Given the description of an element on the screen output the (x, y) to click on. 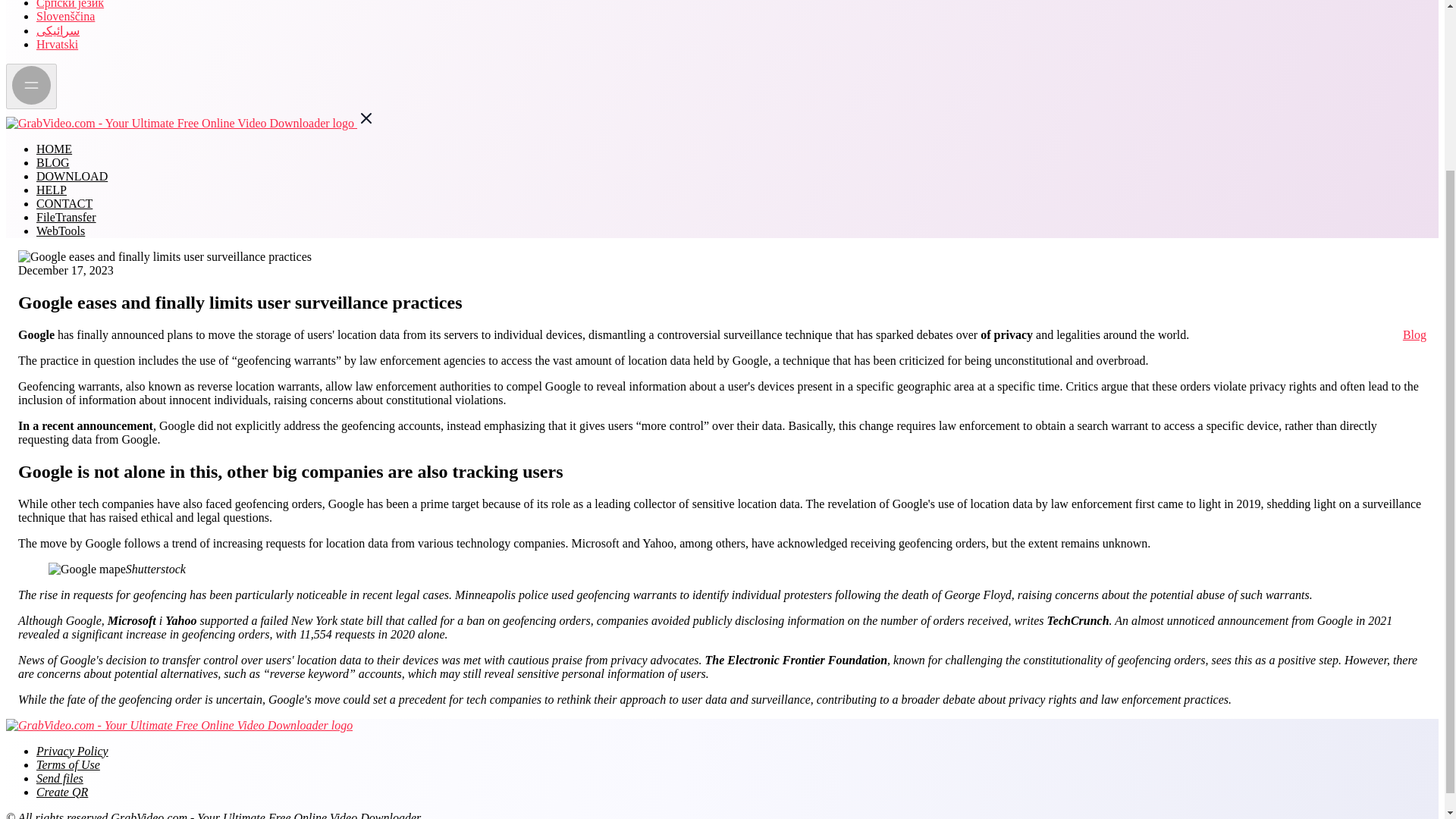
CONTACT (64, 203)
Send files (59, 778)
Create QR (61, 791)
FileTransfer (66, 216)
BLOG (52, 162)
HELP (51, 189)
Blog (1414, 335)
HOME (53, 148)
Terms of Use (68, 764)
DOWNLOAD (71, 175)
